Given the description of an element on the screen output the (x, y) to click on. 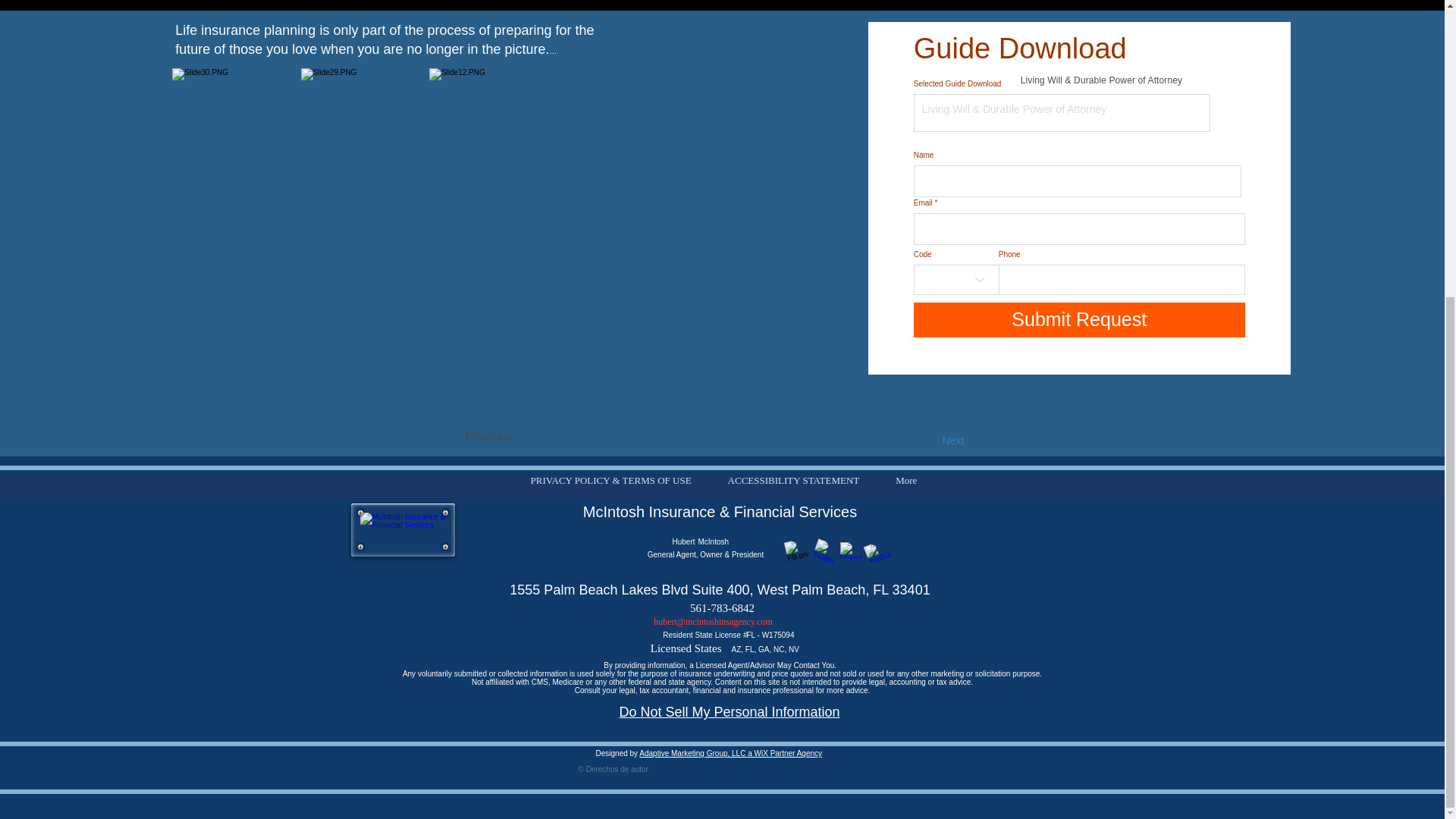
Previous (515, 436)
Do Not Sell My Personal Information (729, 711)
ACCESSIBILITY STATEMENT (793, 488)
Next (925, 440)
Submit Request (1079, 319)
Adaptive Marketing Group, LLC a WiX Partner Agency (730, 753)
